Given the description of an element on the screen output the (x, y) to click on. 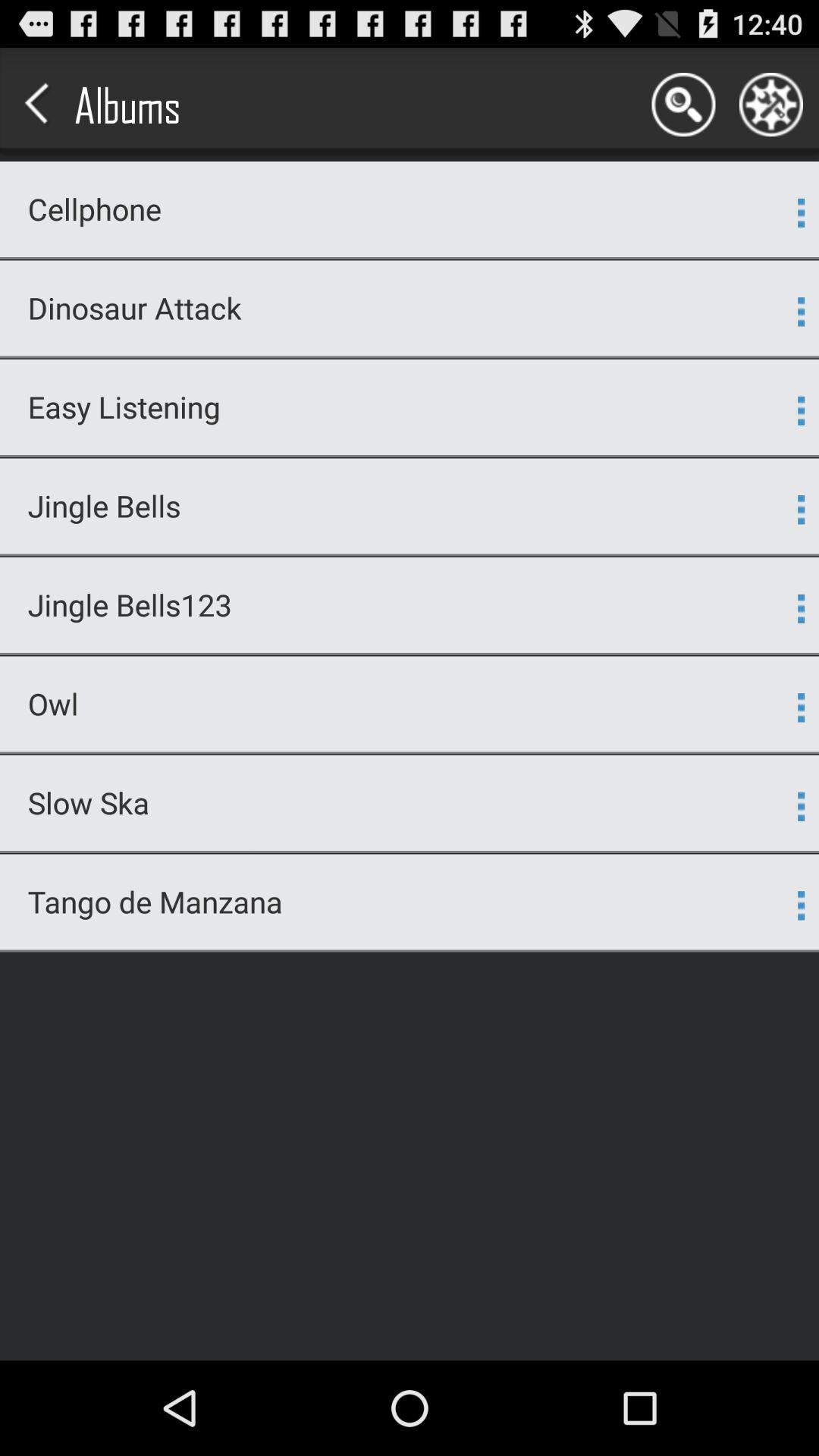
turn on the app to the right of the jingle bells123 (800, 608)
